Given the description of an element on the screen output the (x, y) to click on. 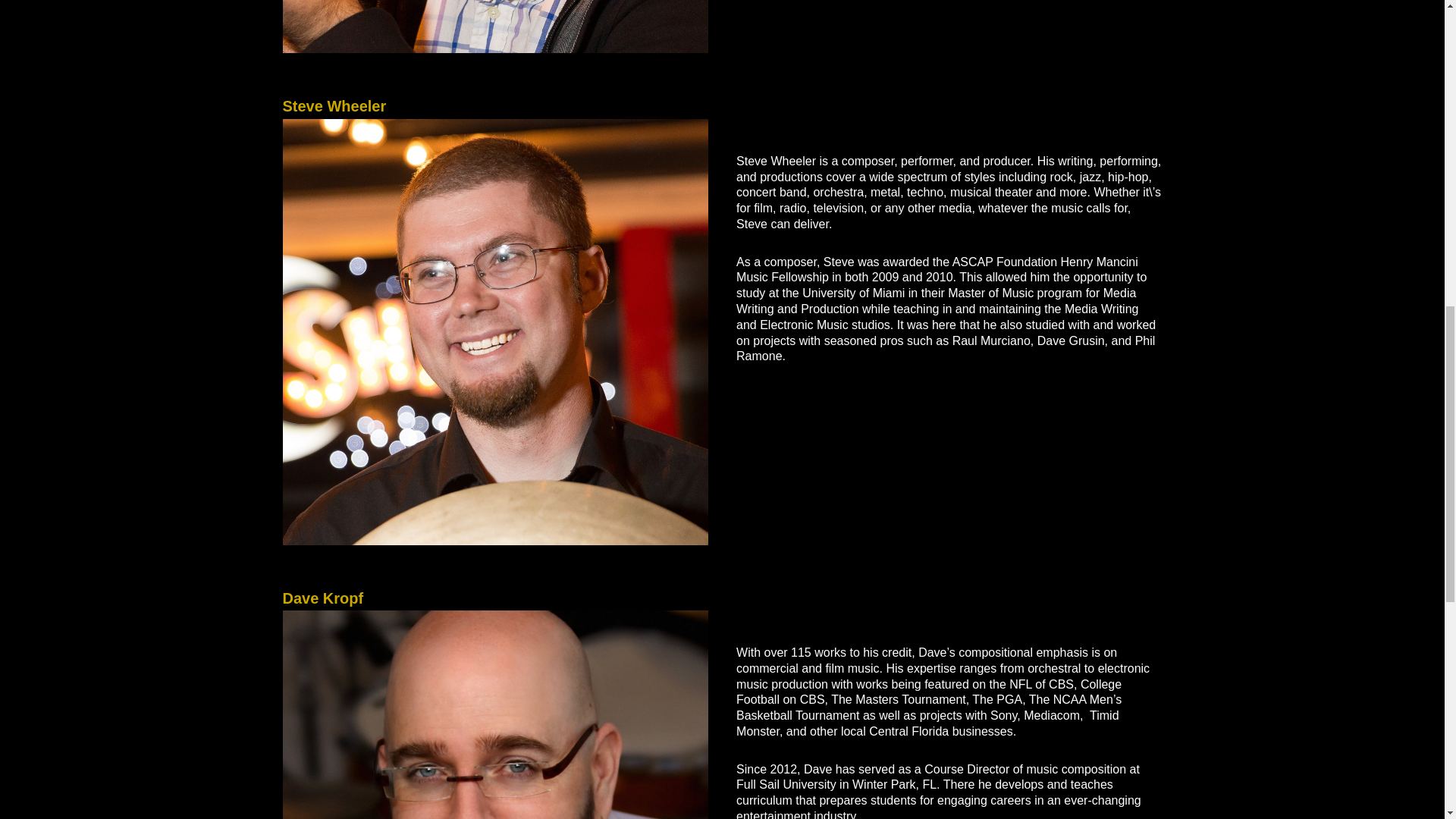
Dave Kropf (494, 714)
Steve Wheeler (333, 105)
Steve Wheeler (333, 105)
Dave Kropf (322, 597)
Michael Schiciano (494, 26)
Dave Kropf (322, 597)
